Given the description of an element on the screen output the (x, y) to click on. 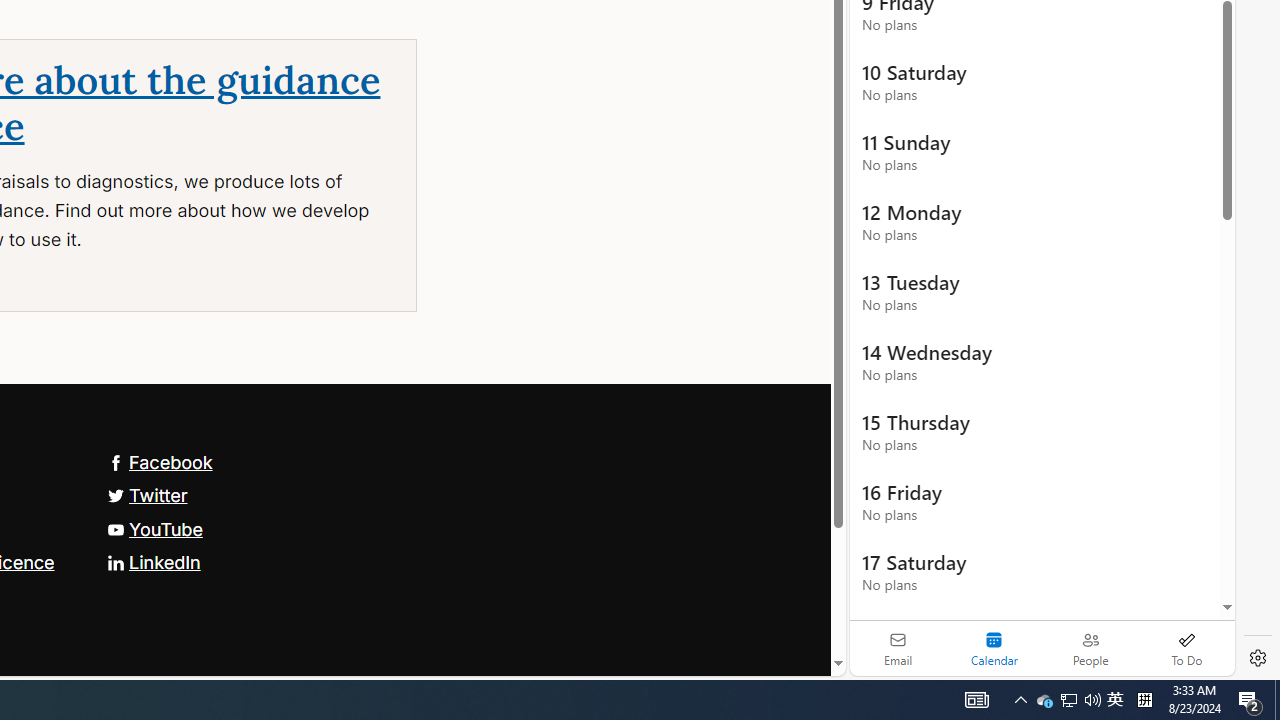
LinkedIn (153, 561)
Facebook (159, 461)
People (1090, 648)
Email (898, 648)
YouTube (154, 528)
Twitter (147, 494)
To Do (1186, 648)
